Given the description of an element on the screen output the (x, y) to click on. 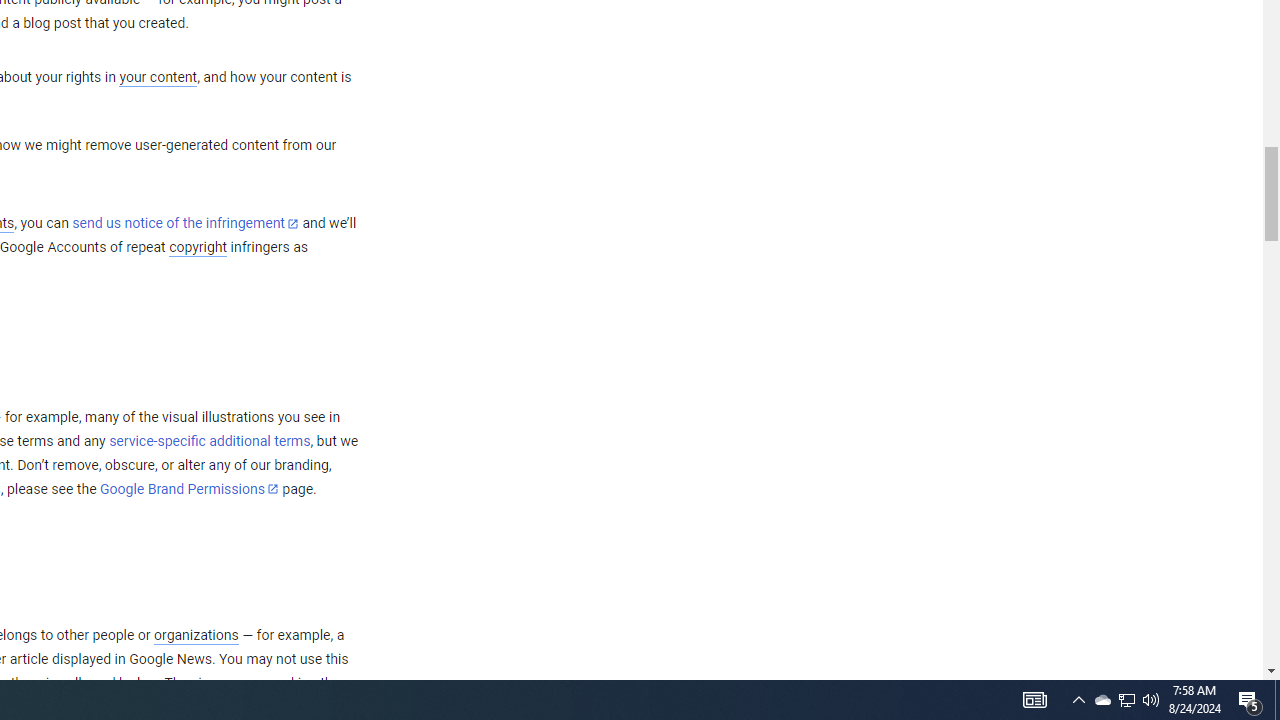
Google Brand Permissions (189, 489)
organizations (196, 635)
your content (158, 78)
send us notice of the infringement (185, 224)
copyright (197, 248)
service-specific additional terms (209, 441)
